Given the description of an element on the screen output the (x, y) to click on. 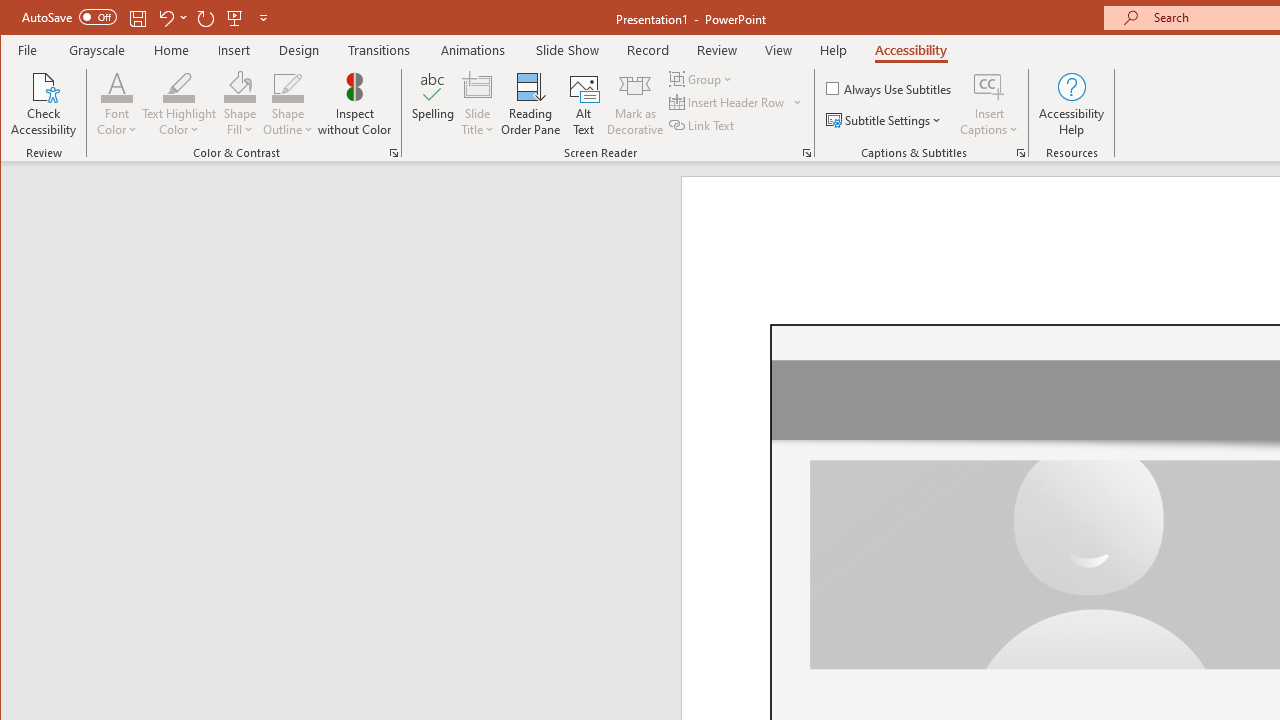
Mark as Decorative (635, 104)
Font Color (116, 86)
Slide Title (477, 104)
Insert Header Row (735, 101)
Color & Contrast (393, 152)
Text Highlight Color (178, 86)
Shape Fill (239, 104)
